Given the description of an element on the screen output the (x, y) to click on. 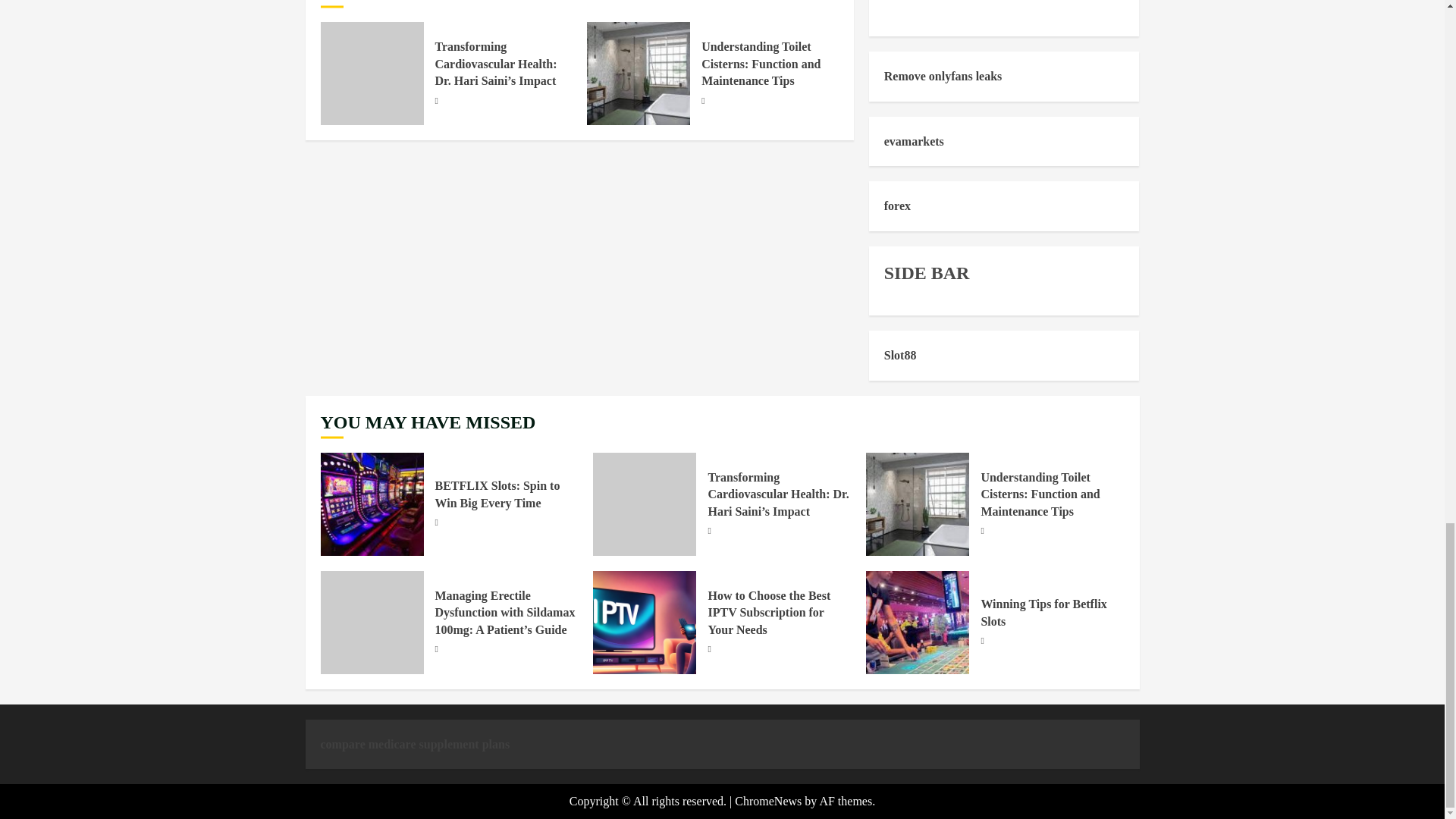
Understanding Toilet Cisterns: Function and Maintenance Tips (638, 73)
Understanding Toilet Cisterns: Function and Maintenance Tips (761, 63)
